Given the description of an element on the screen output the (x, y) to click on. 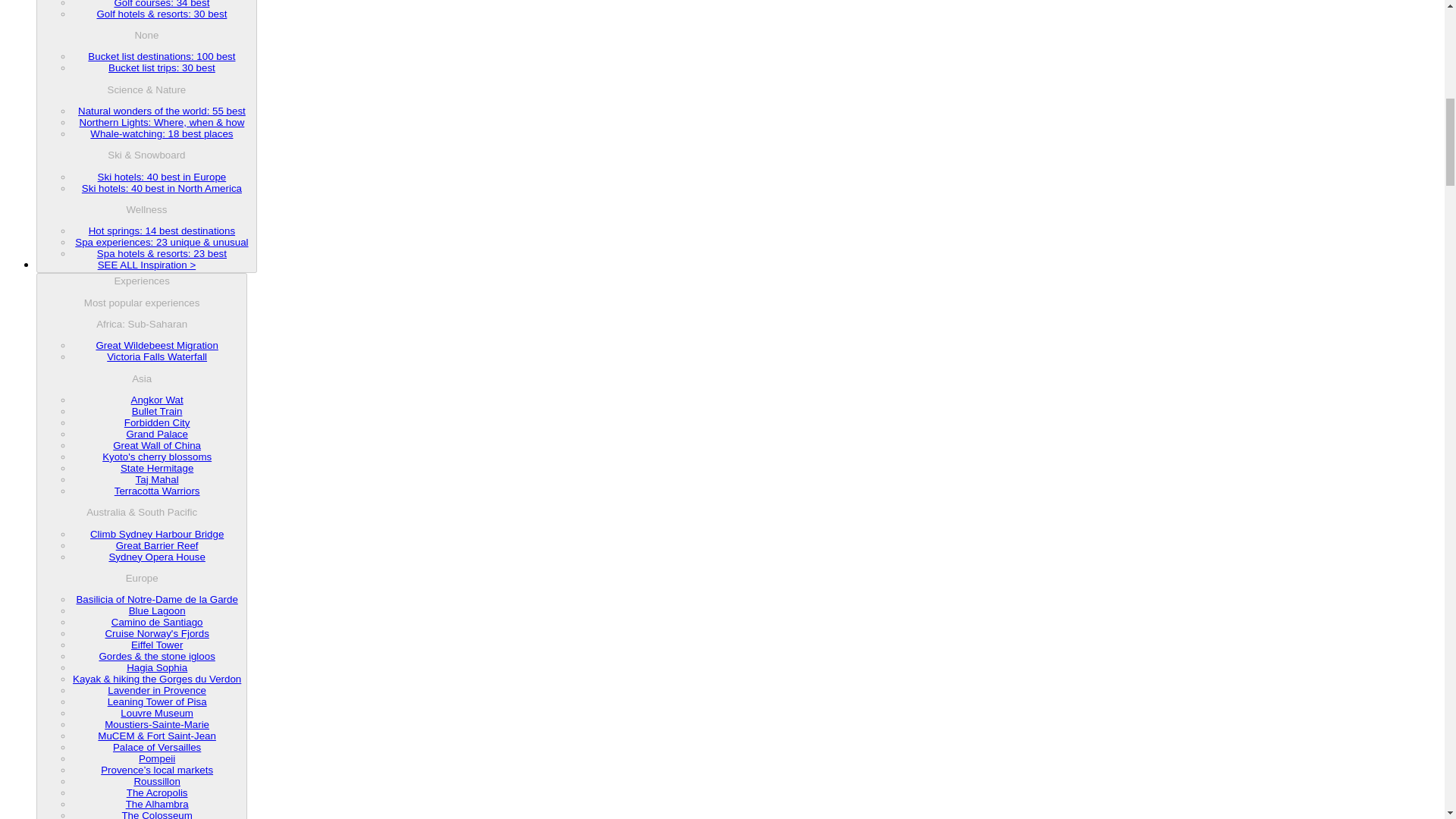
Bucket list trips: 30 best (161, 67)
Golf courses: 34 best (161, 4)
Bucket list destinations: 100 best (160, 56)
